Given the description of an element on the screen output the (x, y) to click on. 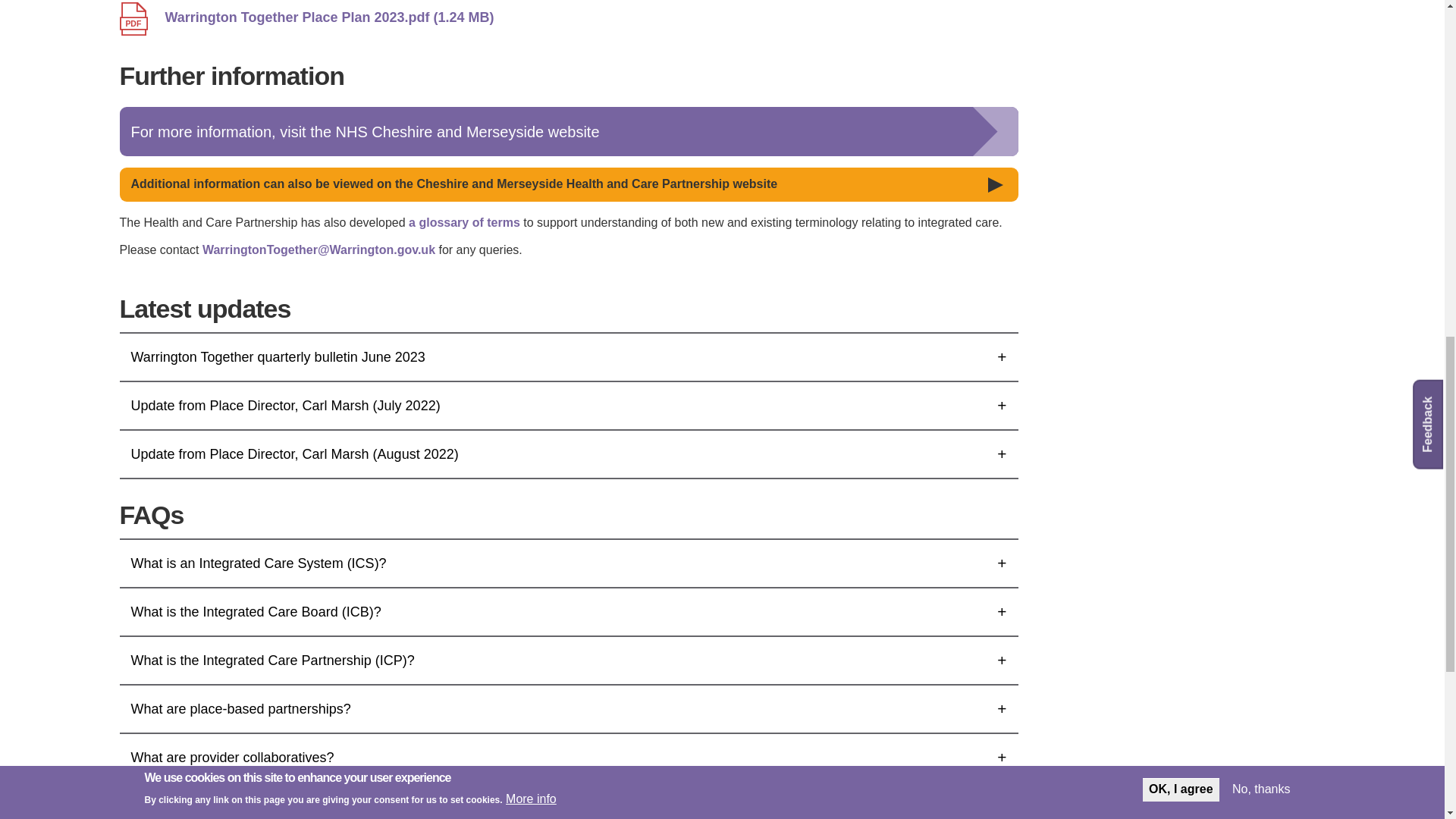
Warrington Together Place Plan 2023.pdf (587, 18)
